Given the description of an element on the screen output the (x, y) to click on. 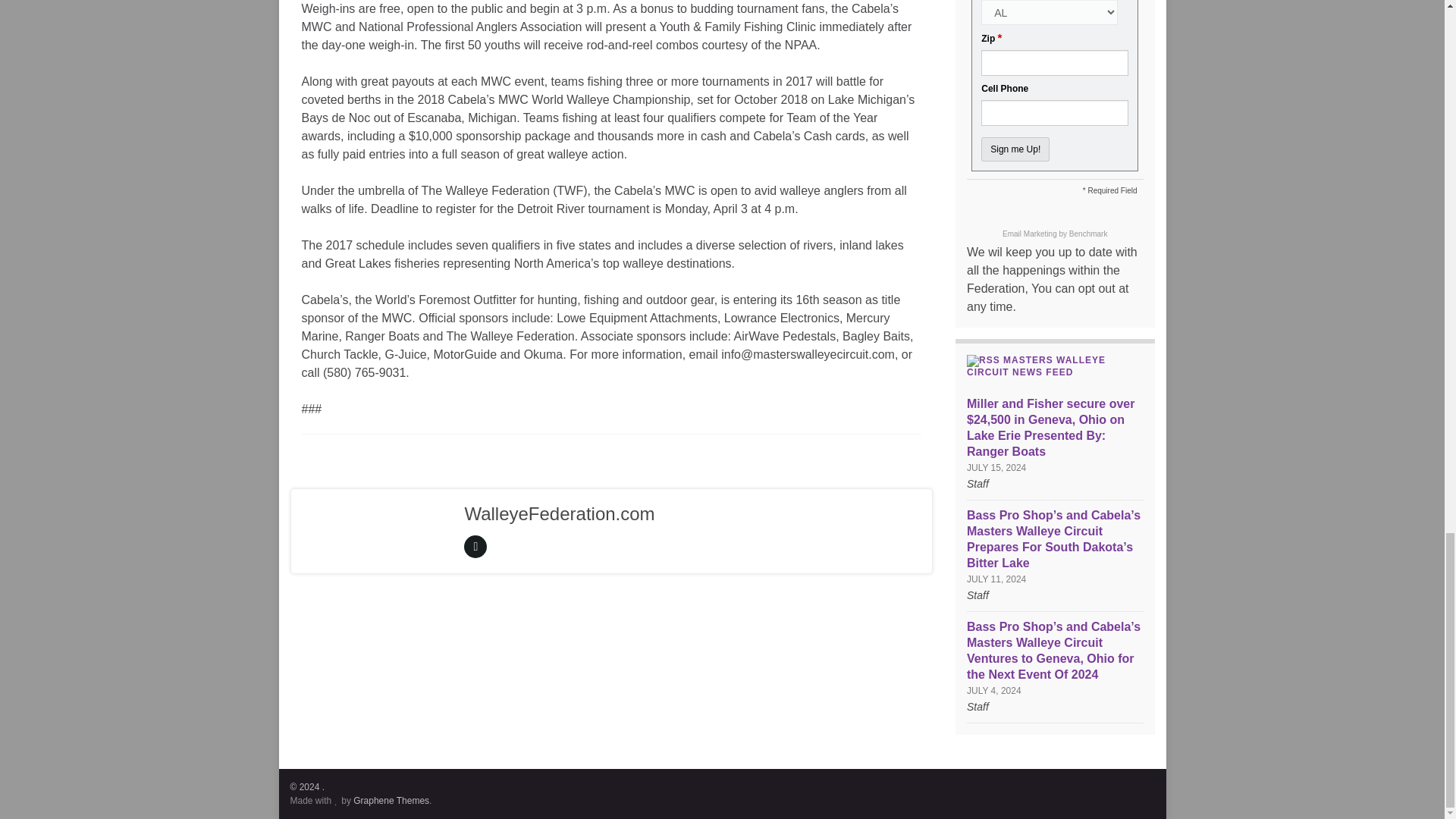
Sign me Up! (1015, 149)
